Given the description of an element on the screen output the (x, y) to click on. 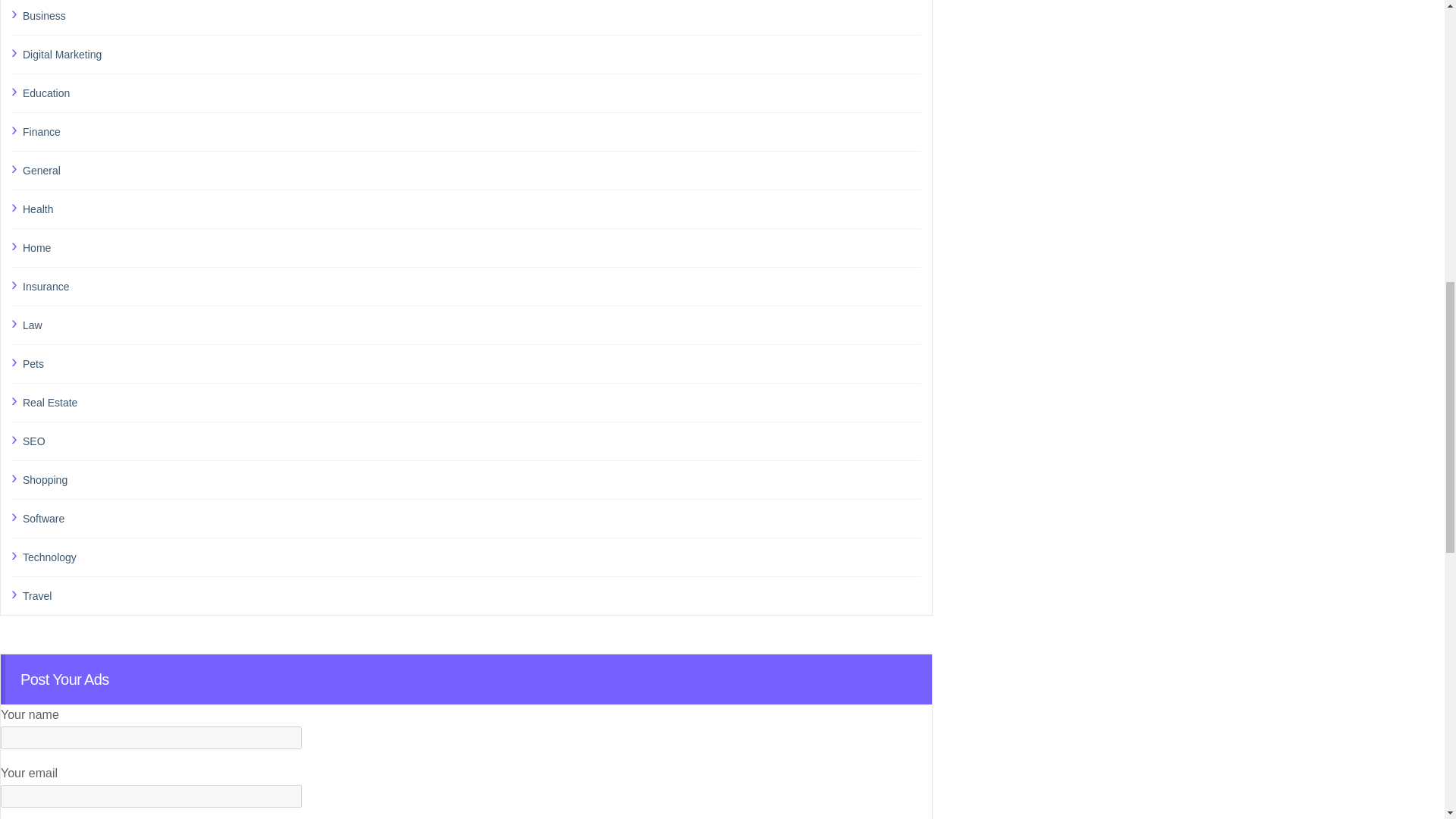
Real Estate (472, 402)
Technology (472, 557)
Home (472, 247)
SEO (472, 441)
Education (472, 93)
Travel (472, 596)
Finance (472, 131)
Insurance (472, 286)
Pets (472, 363)
Digital Marketing (472, 54)
